Given the description of an element on the screen output the (x, y) to click on. 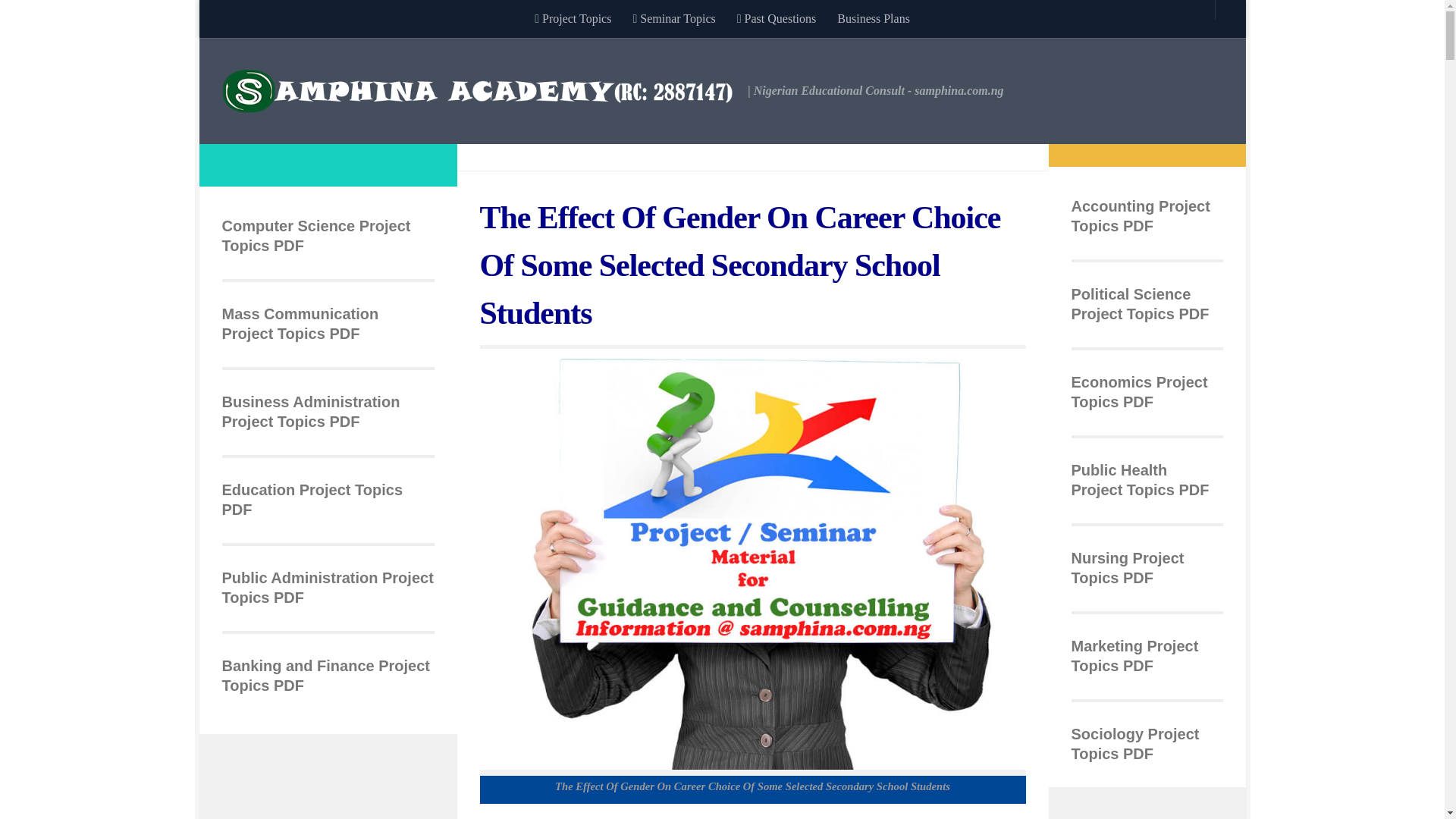
Business Plans (873, 18)
Skip to content (258, 20)
